Given the description of an element on the screen output the (x, y) to click on. 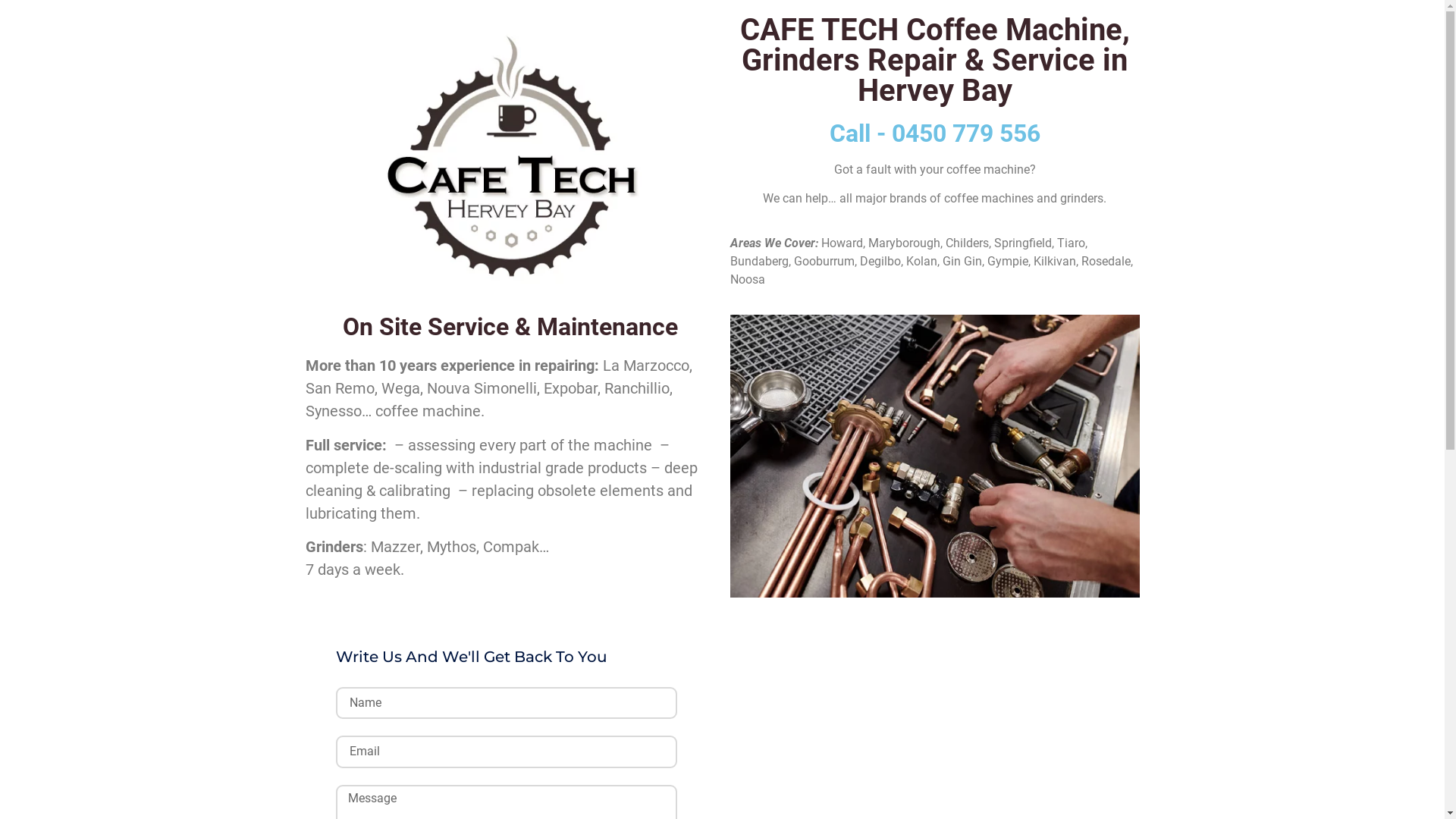
Call - 0450 779 556 Element type: text (934, 133)
